Given the description of an element on the screen output the (x, y) to click on. 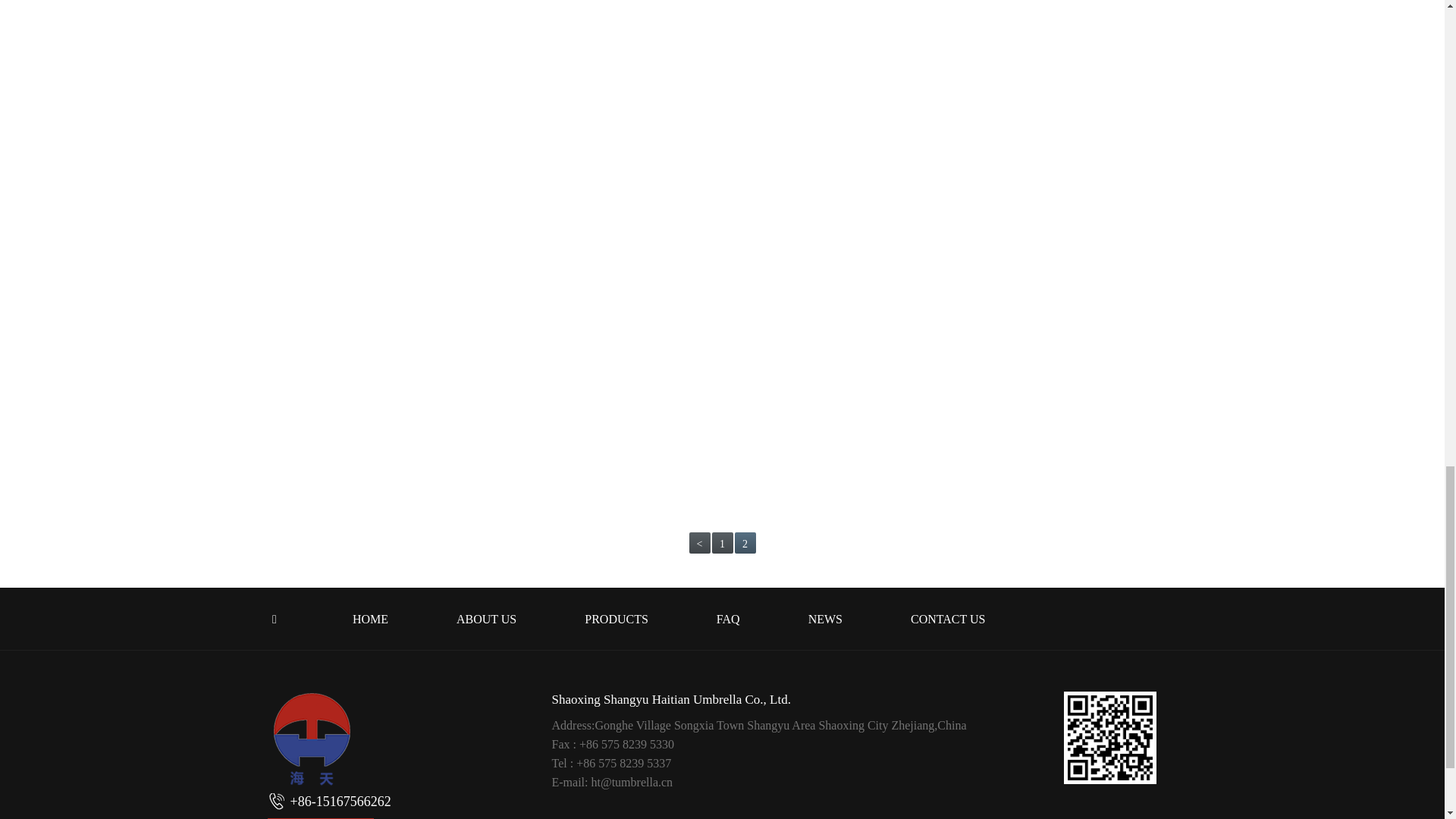
Page 1 (721, 542)
